Given the description of an element on the screen output the (x, y) to click on. 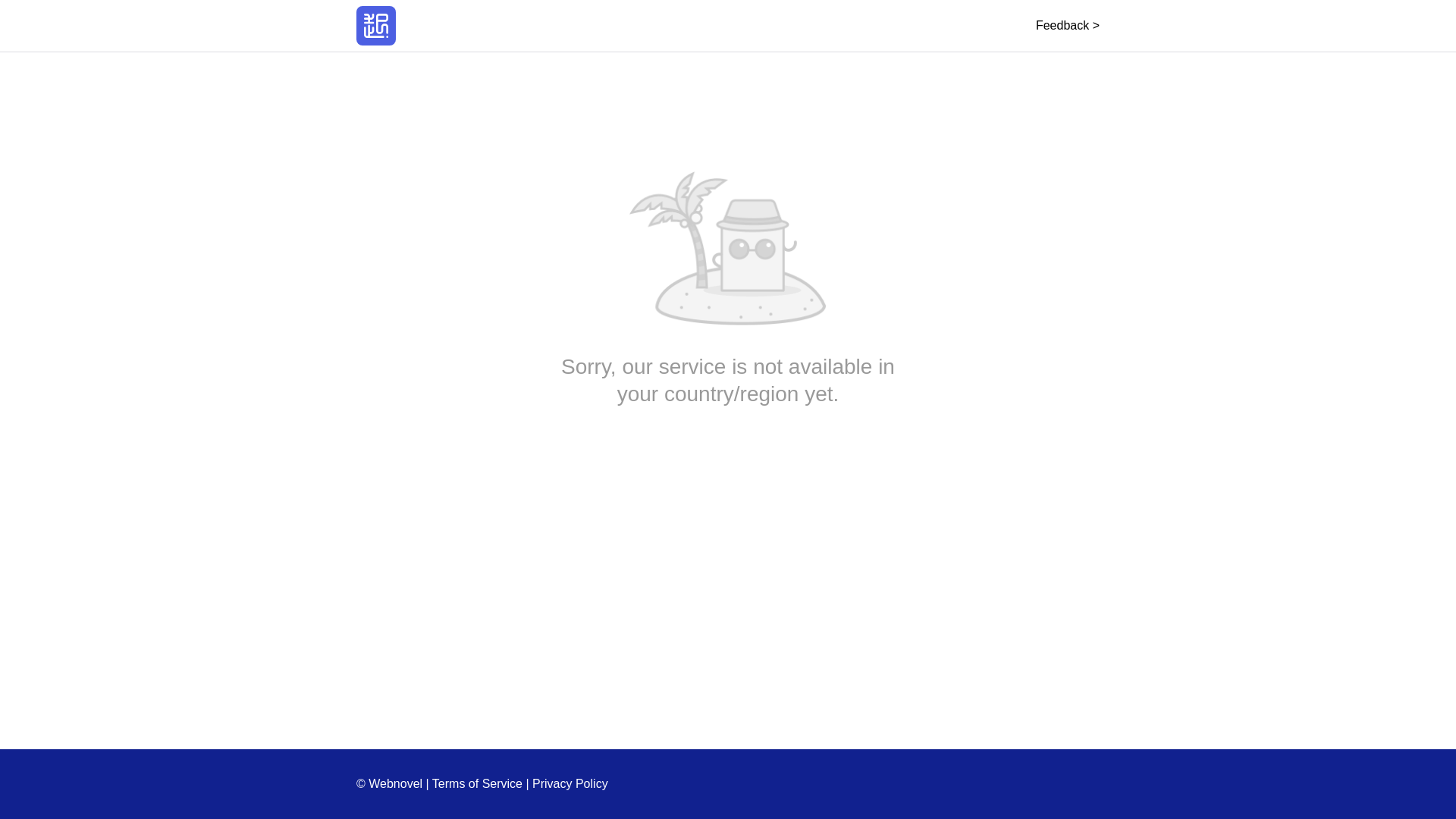
Webnovel (376, 25)
Privacy Policy (570, 783)
Terms of Service (477, 783)
Webnovel (376, 25)
Terms of Service (477, 783)
Feedback (1067, 24)
Privacy Policy (570, 783)
